Given the description of an element on the screen output the (x, y) to click on. 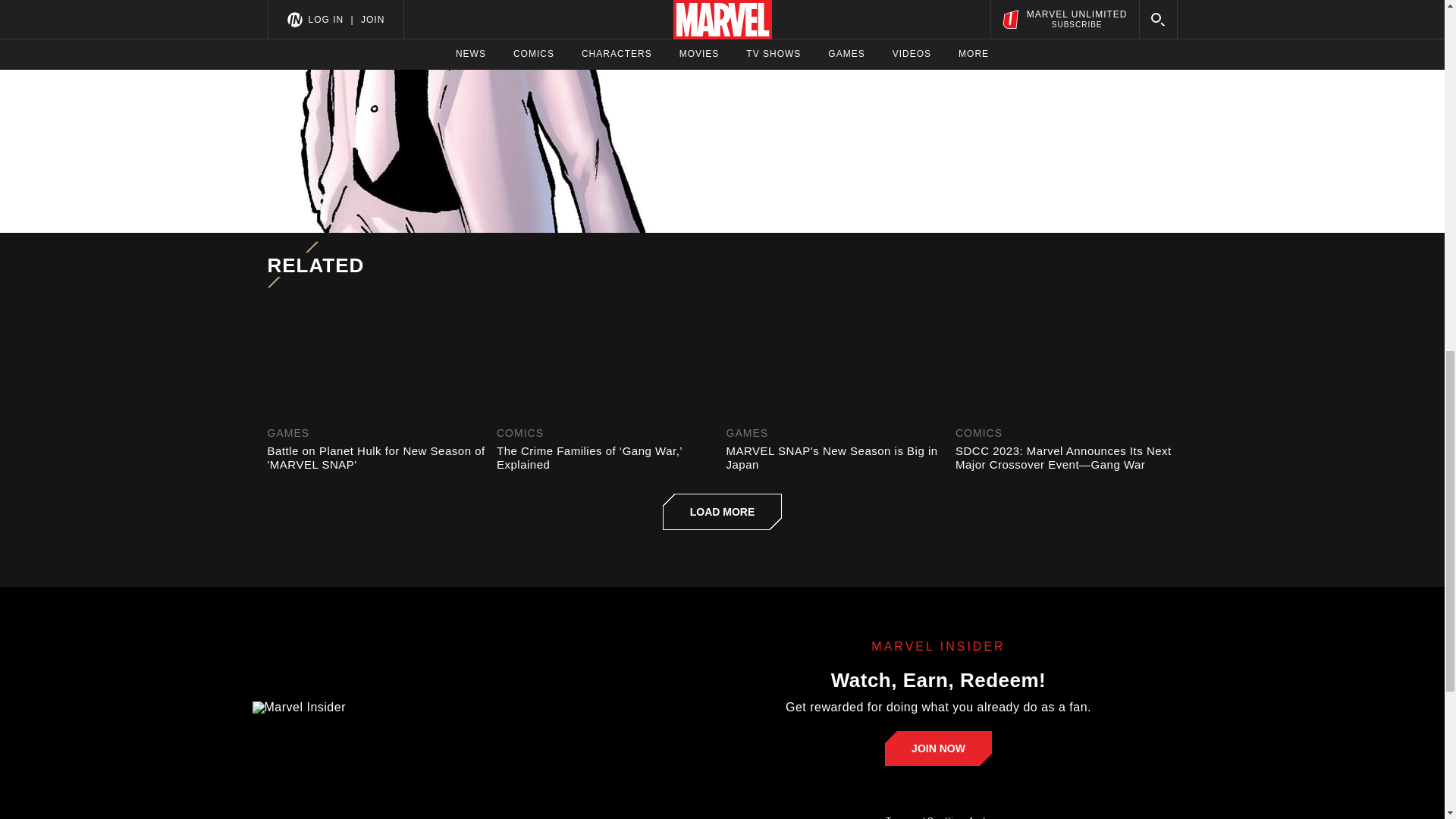
Battle on Planet Hulk for New Season of 'MARVEL SNAP' (377, 457)
MARVEL SNAP's New Season is Big in Japan (837, 457)
LOAD MORE (722, 511)
JOIN NOW (938, 748)
